Given the description of an element on the screen output the (x, y) to click on. 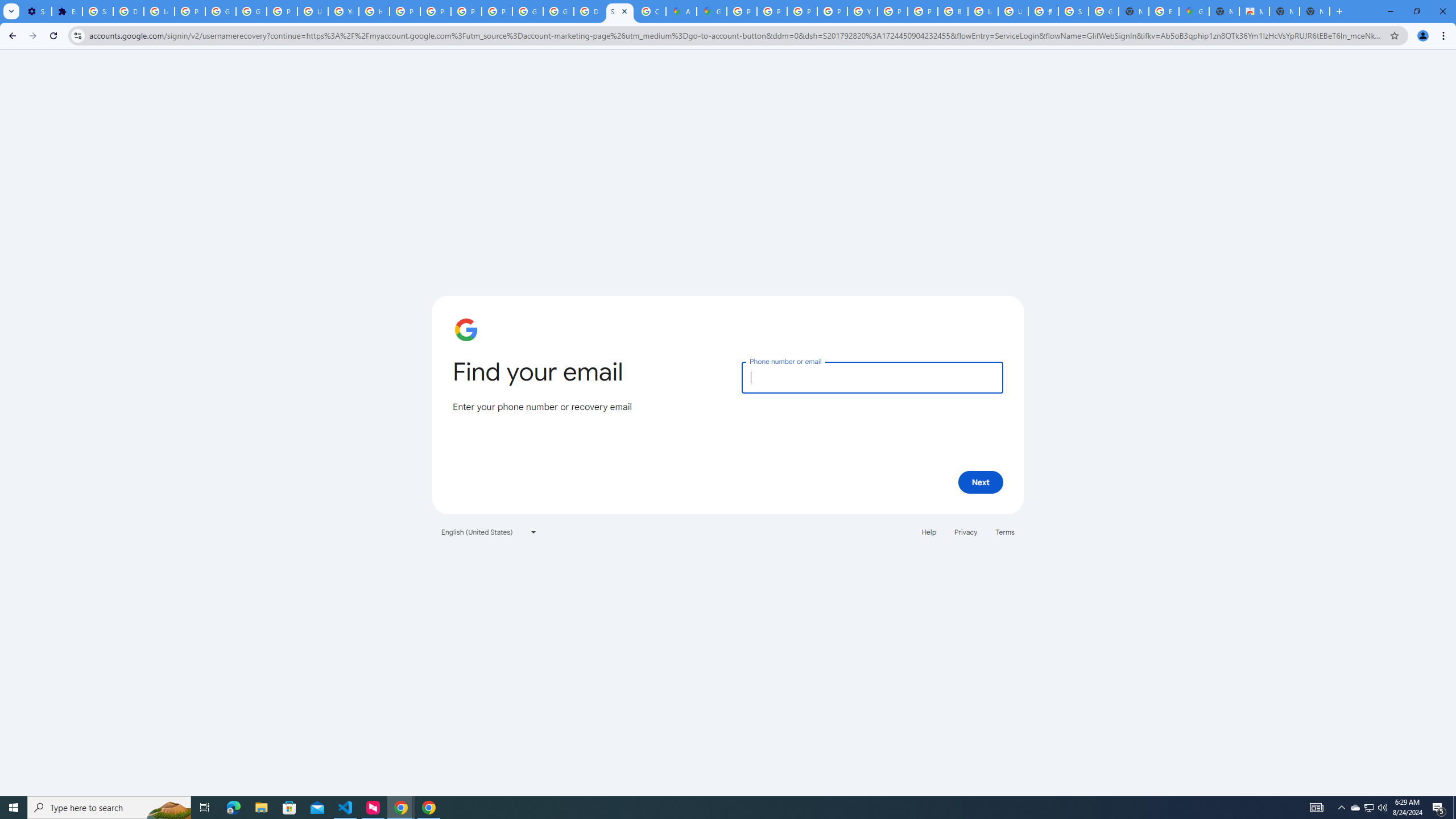
Privacy Help Center - Policies Help (404, 11)
Settings - On startup (36, 11)
YouTube (343, 11)
Next (980, 481)
YouTube (862, 11)
